Given the description of an element on the screen output the (x, y) to click on. 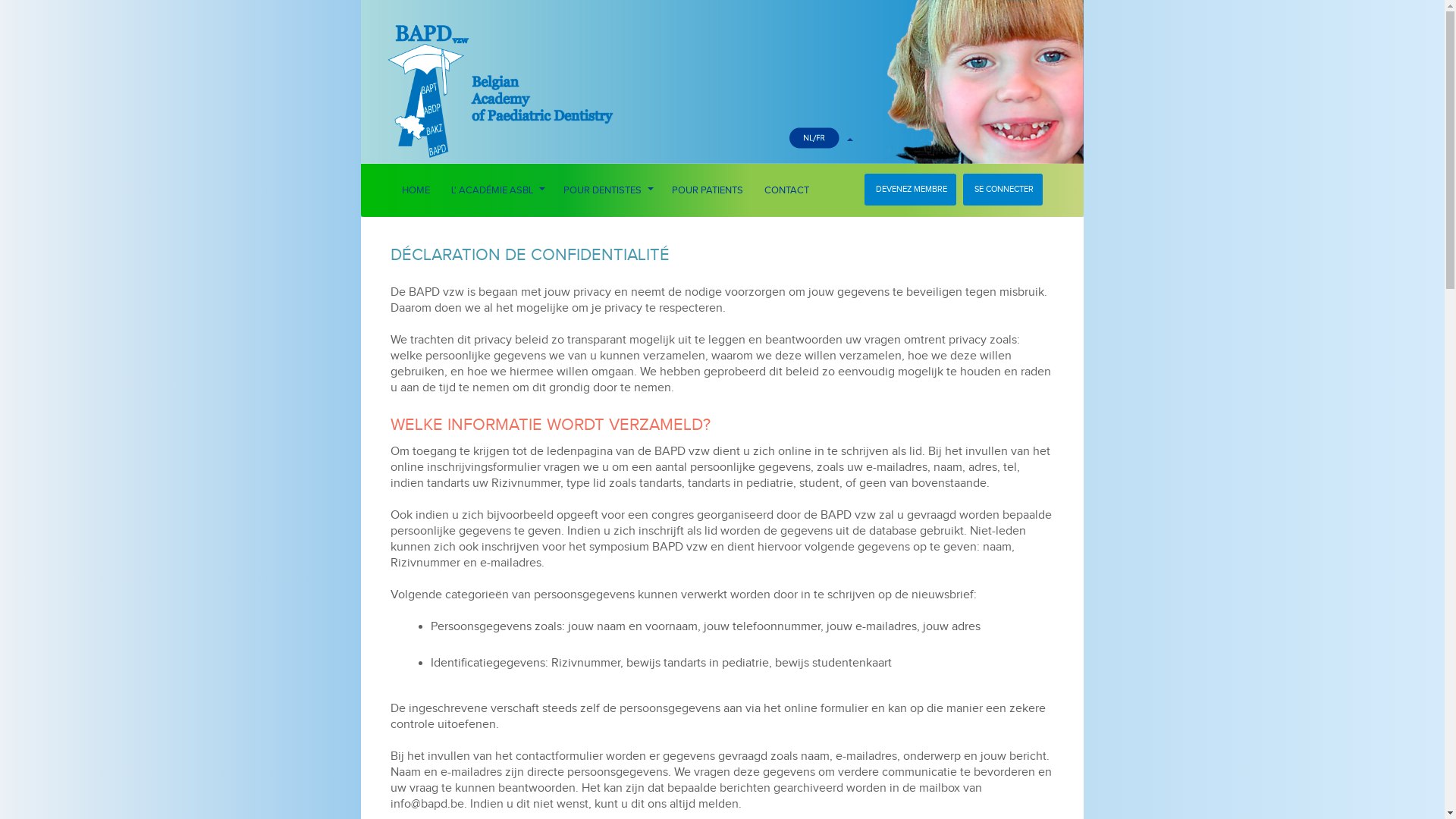
 DEVENEZ MEMBRE Element type: text (910, 189)
POUR DENTISTES Element type: text (606, 189)
HOME Element type: text (415, 189)
 SE CONNECTER Element type: text (1002, 189)
Ga naar de homepagina Element type: hover (539, 63)
POUR PATIENTS Element type: text (707, 189)
CONTACT Element type: text (786, 189)
